Given the description of an element on the screen output the (x, y) to click on. 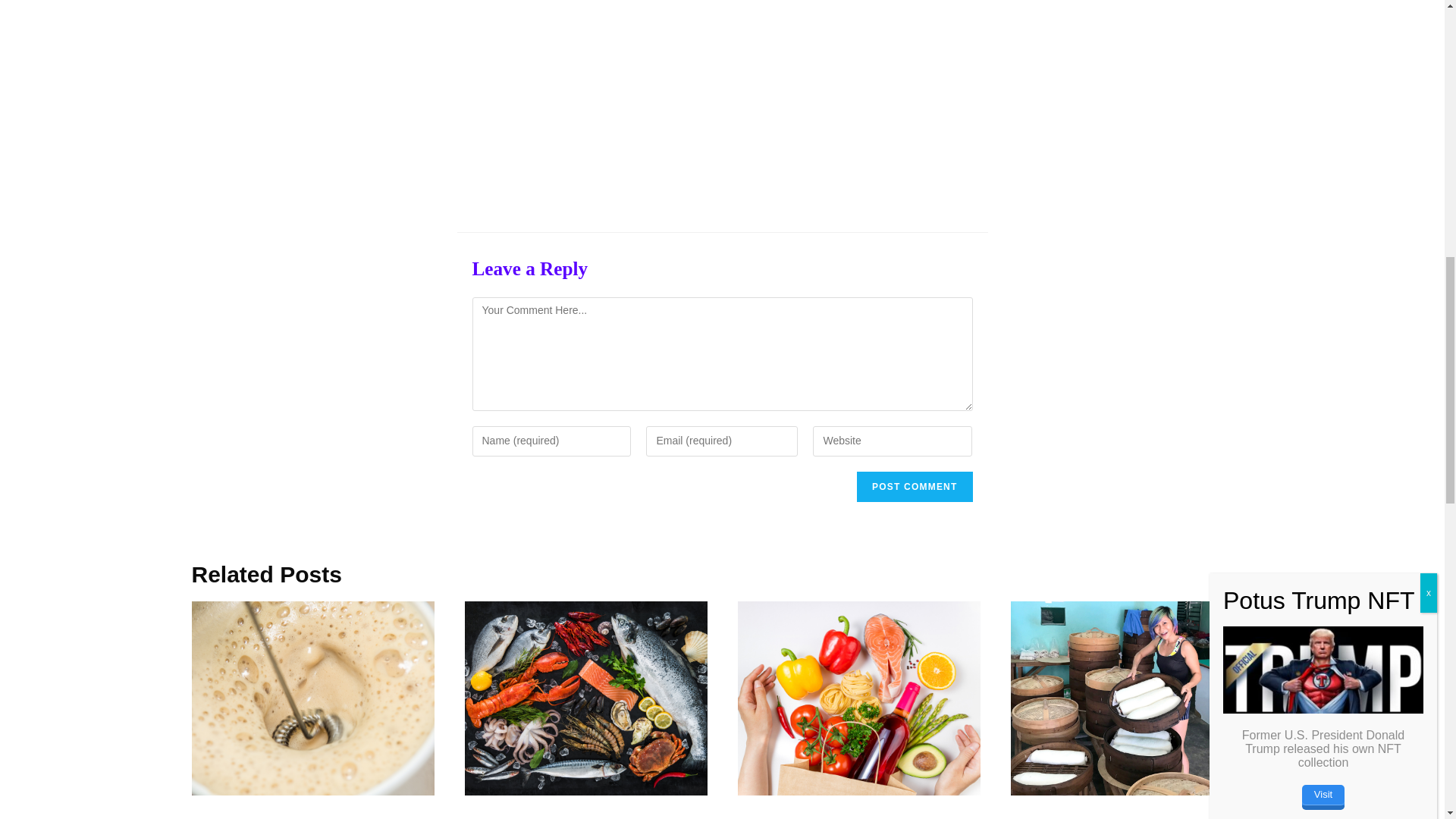
Post Comment (914, 486)
Post Comment (914, 486)
